Given the description of an element on the screen output the (x, y) to click on. 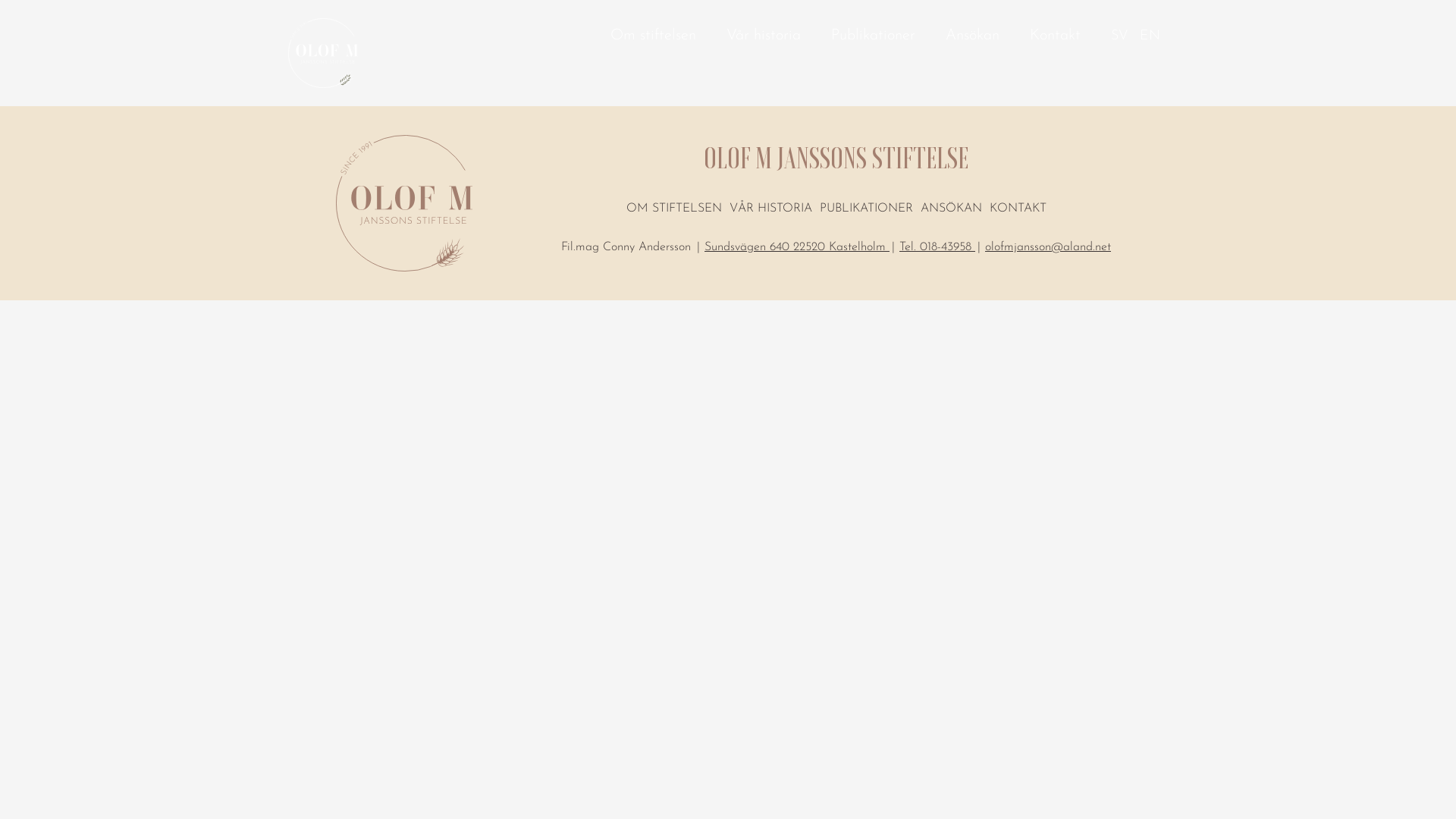
Om stiftelsen Element type: text (653, 37)
OM STIFTELSEN Element type: text (673, 209)
olofmjansson@aland.net Element type: text (1047, 252)
PUBLIKATIONER Element type: text (865, 209)
Tel. 018-43958 | Element type: text (942, 252)
EN Element type: text (1149, 35)
Publikationer Element type: text (873, 37)
Kontakt Element type: text (1054, 37)
SV Element type: text (1119, 35)
KONTAKT Element type: text (1016, 209)
